Given the description of an element on the screen output the (x, y) to click on. 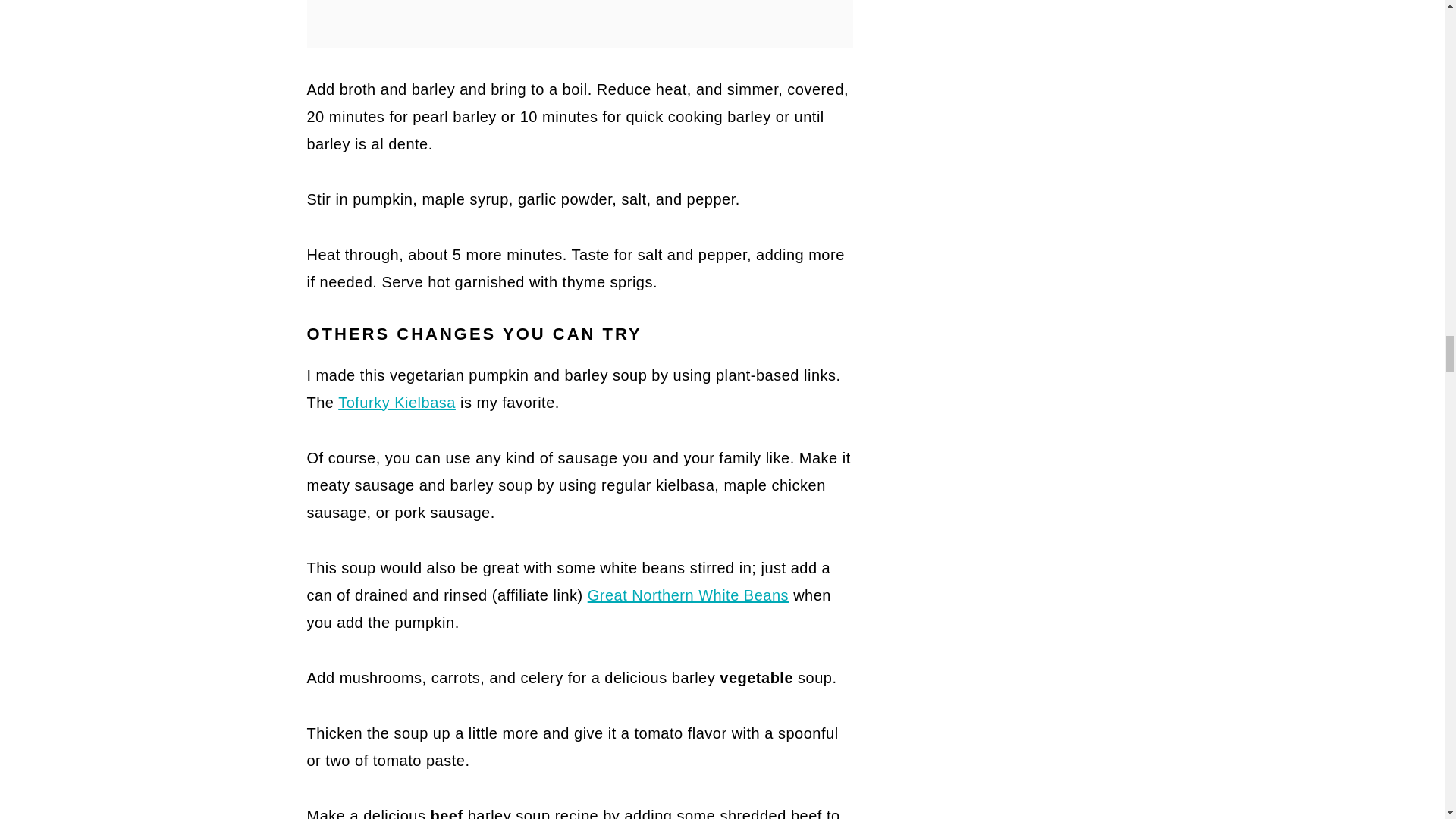
Great Northern White Beans (688, 595)
Tofurky Kielbasa (396, 402)
